Given the description of an element on the screen output the (x, y) to click on. 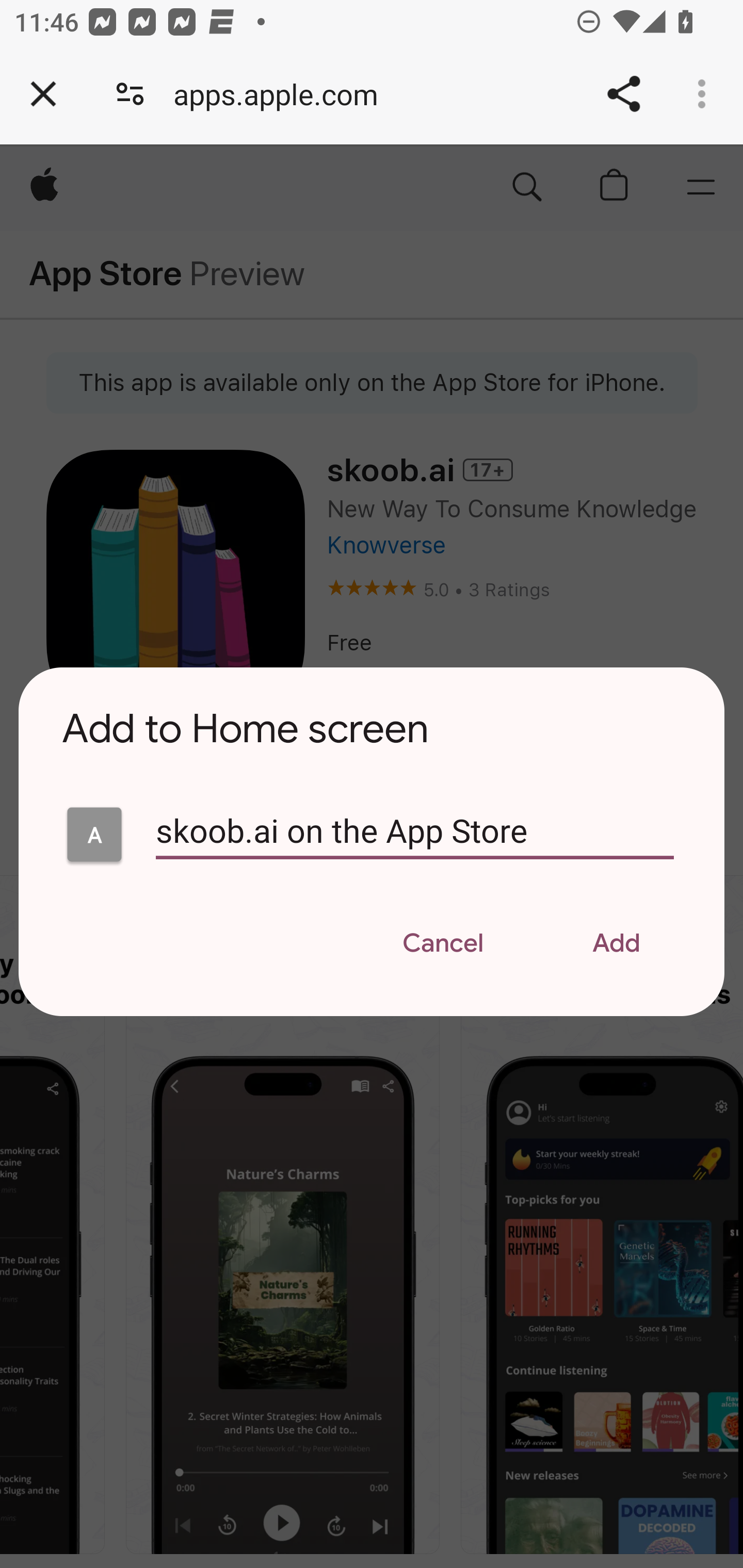
Close tab (43, 93)
Share (623, 93)
Customize and control Google Chrome (705, 93)
Connection is secure (129, 93)
apps.apple.com (282, 93)
skoob.ai on the App Store (94, 834)
skoob.ai on the App Store (414, 839)
Cancel (442, 943)
Add (615, 943)
